Given the description of an element on the screen output the (x, y) to click on. 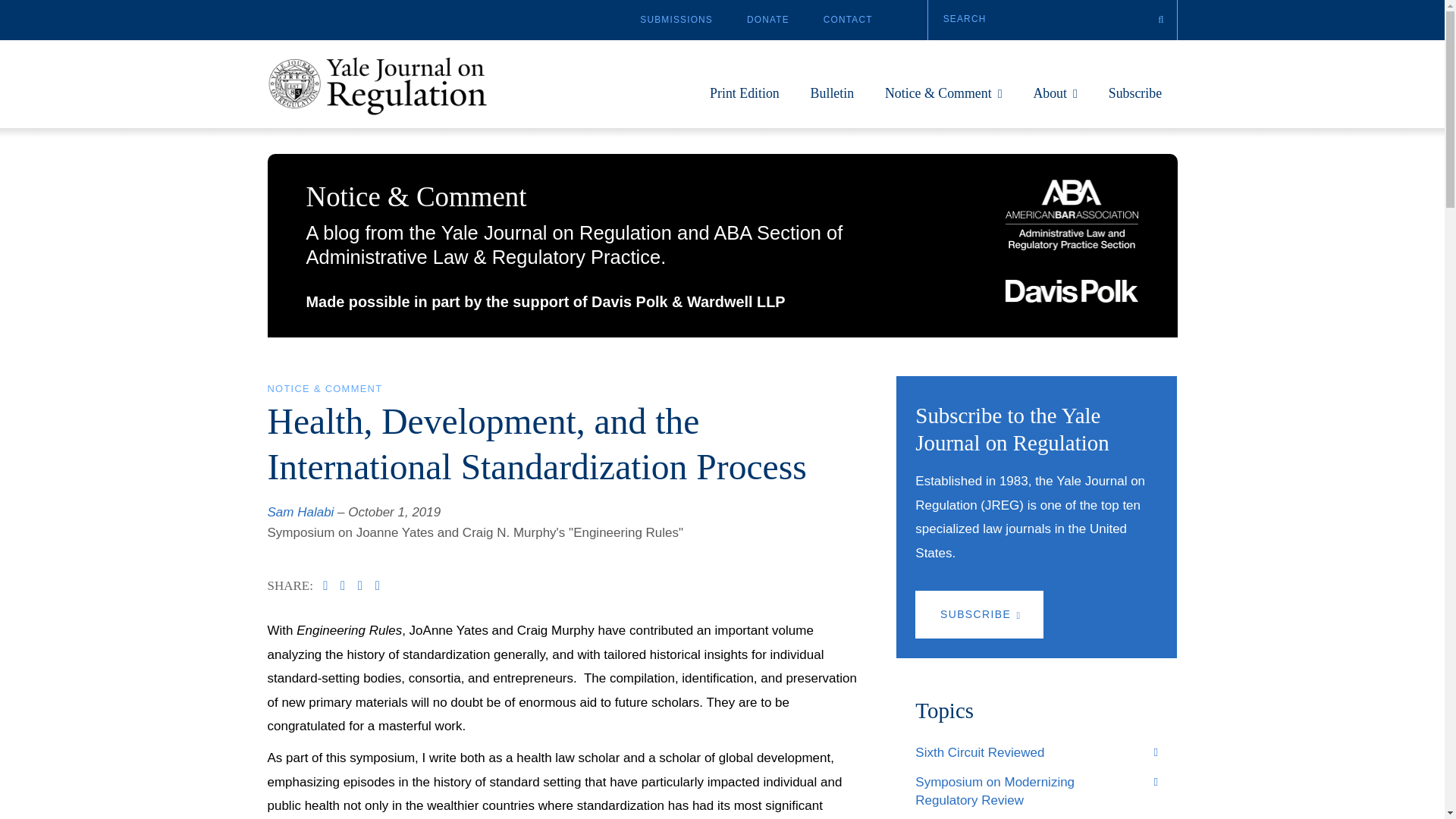
SUBMISSIONS (676, 19)
Search (1052, 20)
CONTACT (848, 19)
DONATE (767, 19)
Subscribe (1134, 101)
Print Edition (744, 101)
Sam Halabi (299, 512)
